Given the description of an element on the screen output the (x, y) to click on. 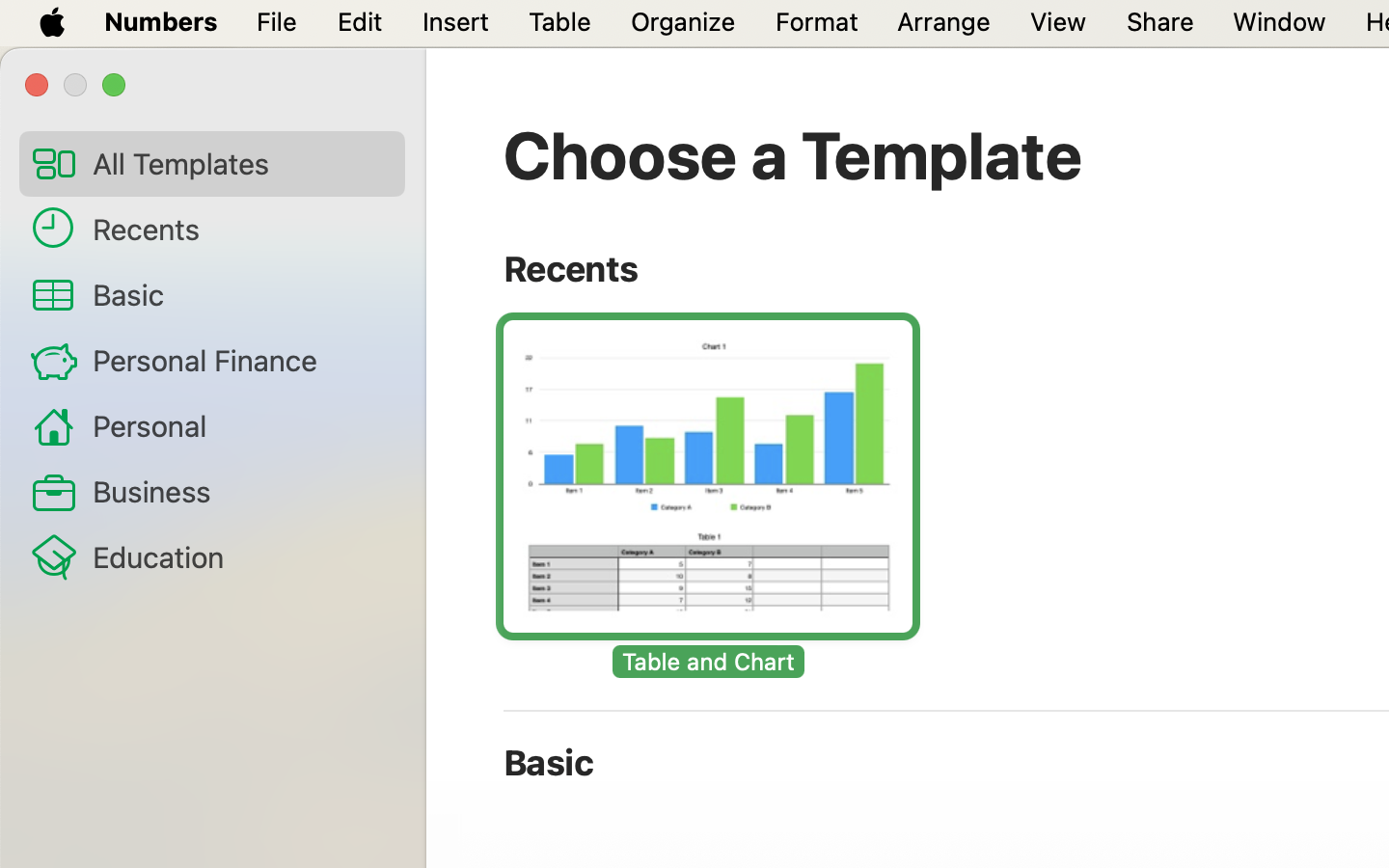
Personal Finance Element type: AXStaticText (240, 359)
All Templates Element type: AXStaticText (240, 162)
Recents Element type: AXStaticText (240, 228)
